Given the description of an element on the screen output the (x, y) to click on. 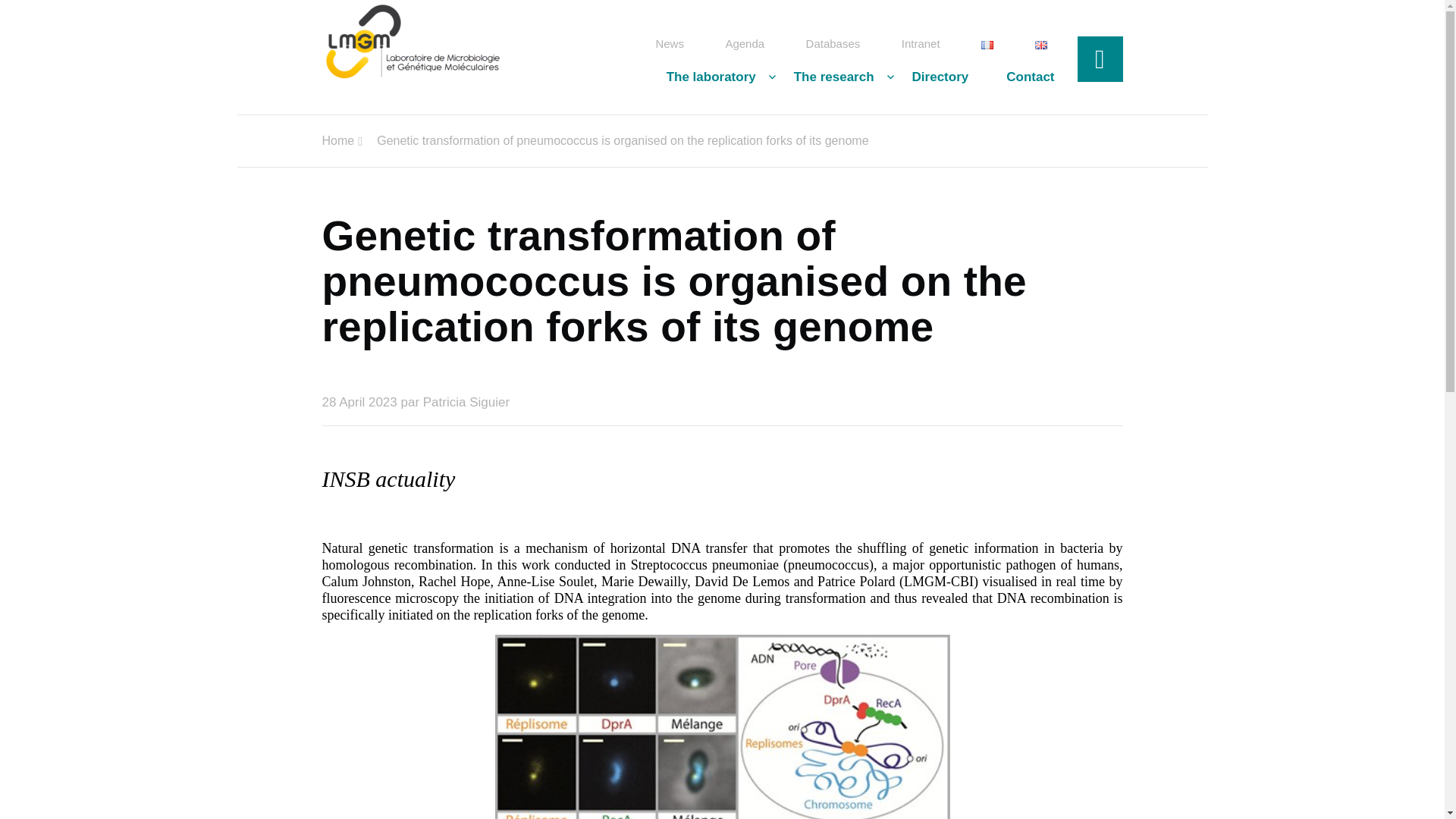
Directory (940, 76)
Agenda (744, 43)
The research (833, 76)
Contact (1020, 76)
Home (337, 140)
Databases (833, 43)
News (669, 43)
Intranet (920, 43)
The laboratory (710, 76)
